Given the description of an element on the screen output the (x, y) to click on. 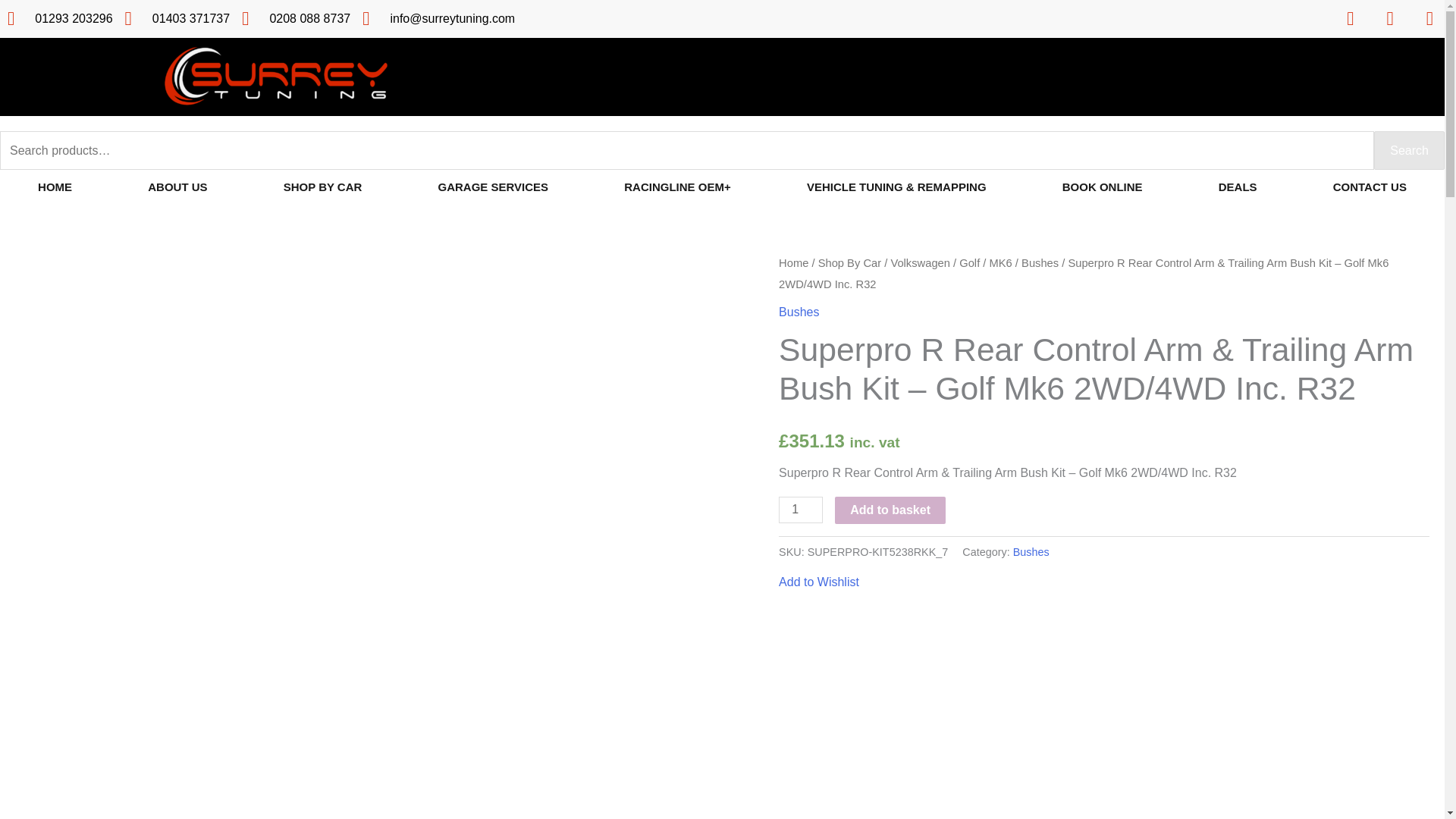
01293 203296 (60, 18)
1 (800, 509)
0208 088 8737 (295, 18)
01403 371737 (177, 18)
